Given the description of an element on the screen output the (x, y) to click on. 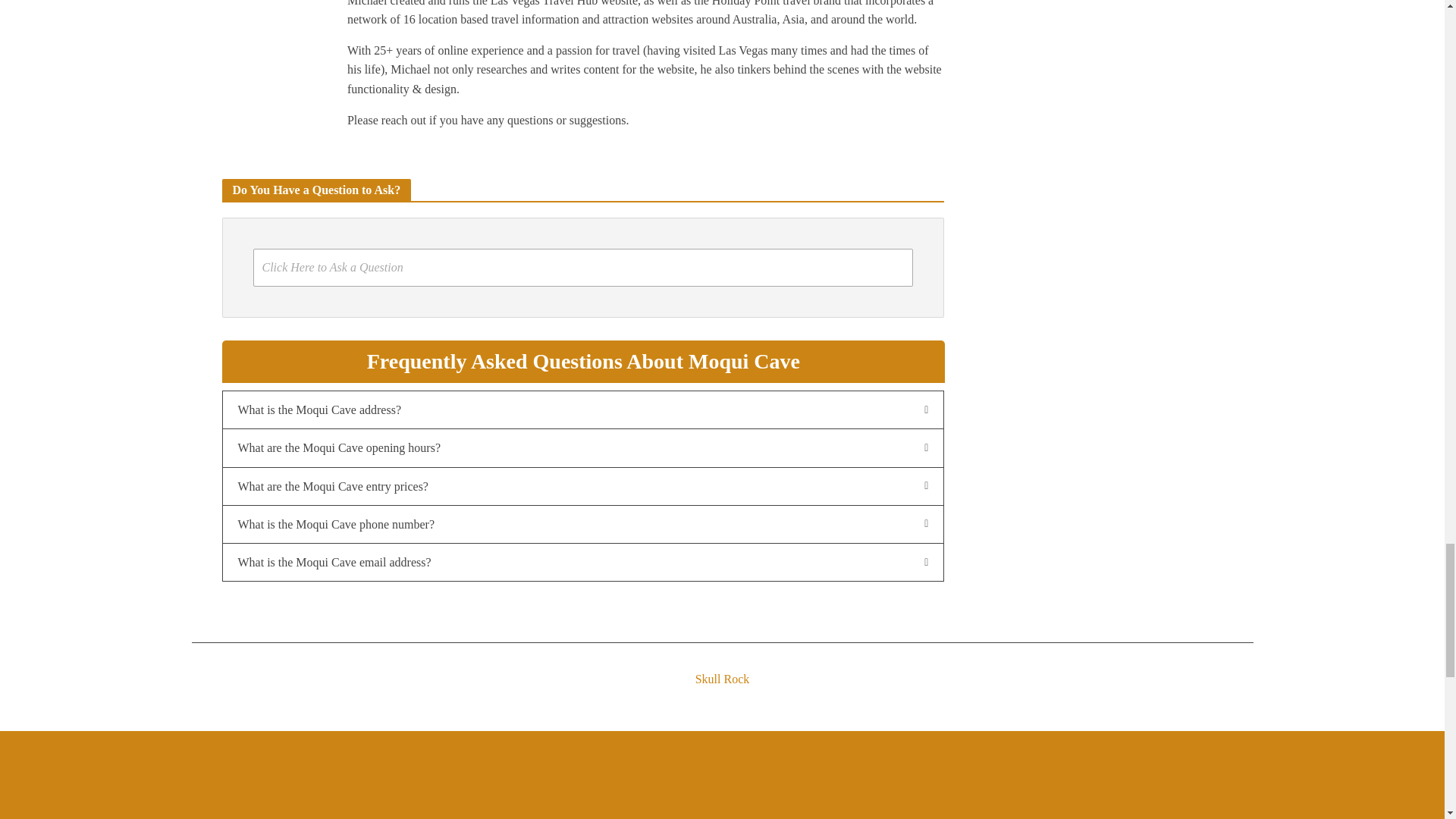
Skull Rock (721, 665)
